Given the description of an element on the screen output the (x, y) to click on. 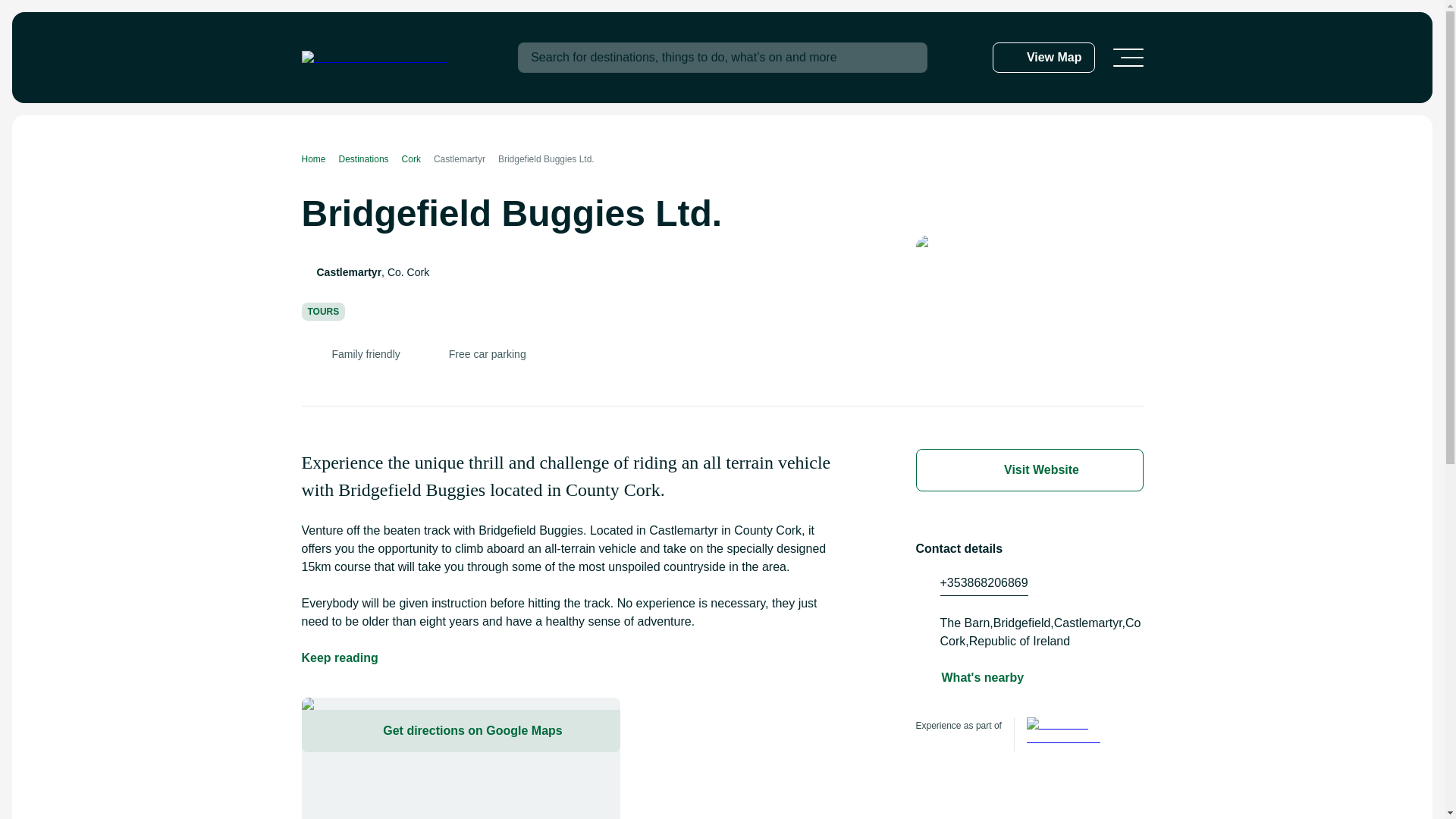
Ireland's Ancient East (1070, 734)
Click to go back to the homepage (374, 57)
Keep reading (339, 658)
Visit Website (1028, 469)
Get directions on Google Maps (460, 758)
What's nearby (983, 678)
View Map (1043, 57)
Destinations (370, 159)
Get directions on Google Maps (460, 731)
TOURS (323, 311)
Home (320, 159)
Cork (417, 159)
